Given the description of an element on the screen output the (x, y) to click on. 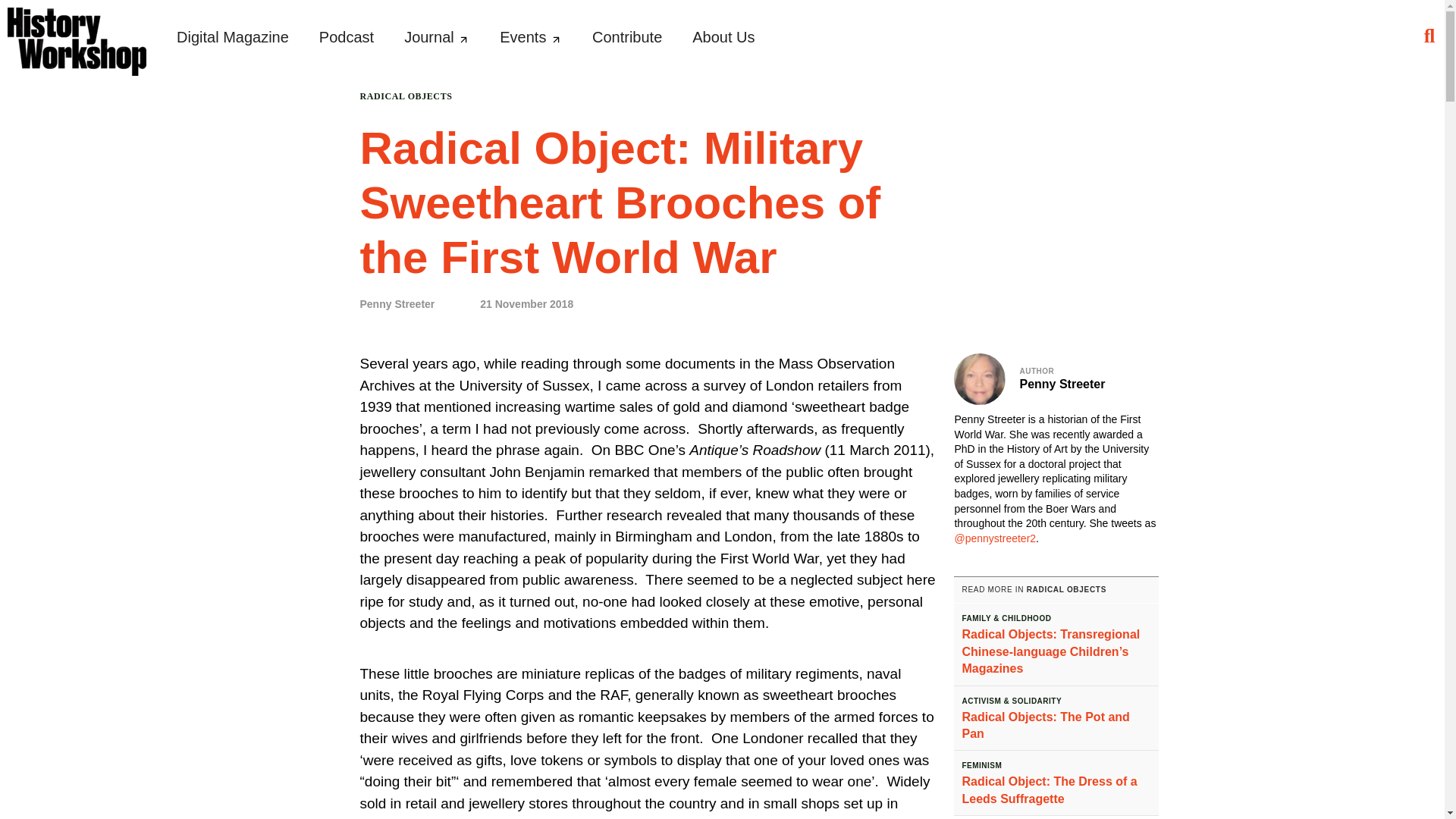
Contribute (627, 36)
FEMINISM (980, 765)
Podcast (346, 36)
Radical Object: The Dress of a Leeds Suffragette (1048, 789)
Journal (436, 36)
About Us (722, 36)
Radical Objects: The Pot and Pan (1044, 725)
RADICAL OBJECTS (1066, 589)
RADICAL OBJECTS (405, 95)
Events (530, 36)
Digital Magazine (232, 36)
Search (20, 20)
